Given the description of an element on the screen output the (x, y) to click on. 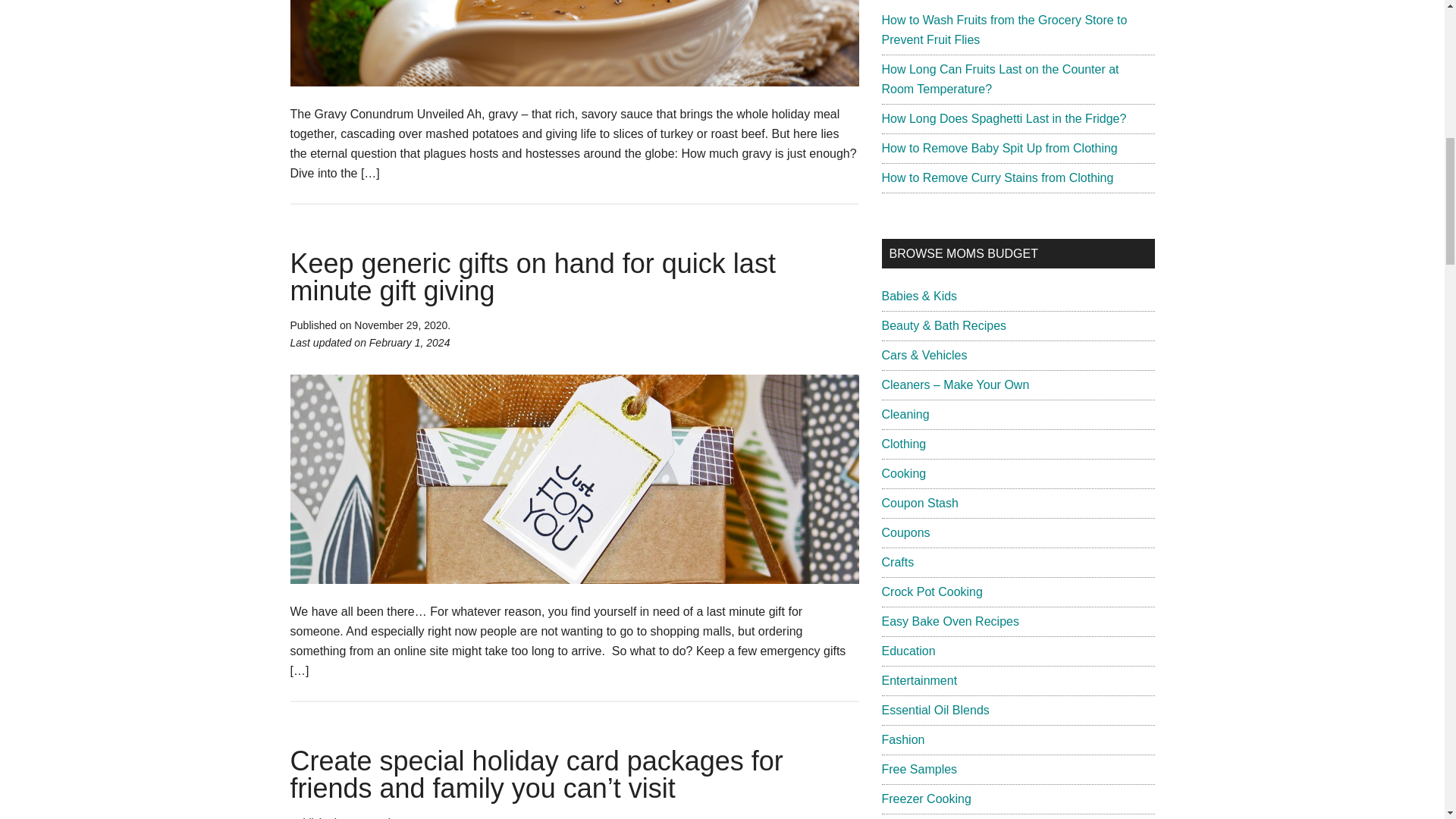
How to Remove Baby Spit Up from Clothing (998, 147)
How Long Does Spaghetti Last in the Fridge? (1002, 118)
Clothing (903, 443)
Cleaning (904, 413)
How to Remove Curry Stains from Clothing (996, 177)
Cooking (903, 472)
Coupon Stash (919, 502)
Keep generic gifts on hand for quick last minute gift giving (531, 277)
How Long Can Fruits Last on the Counter at Room Temperature? (999, 79)
